Given the description of an element on the screen output the (x, y) to click on. 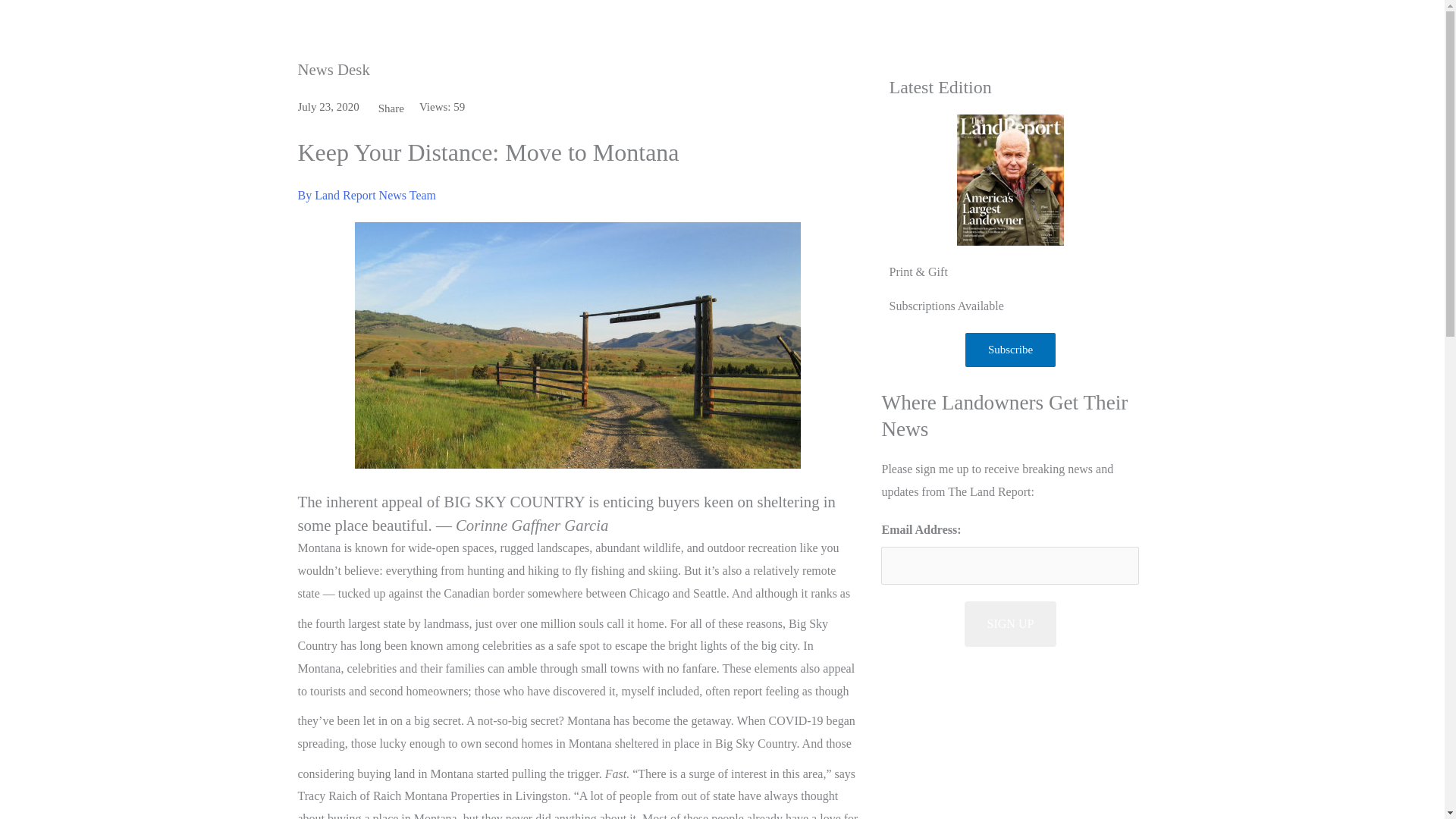
SIGN UP (1010, 624)
By Land Report News Team (578, 195)
Latest Edition (939, 86)
Subscribe (1010, 349)
SIGN UP (1010, 624)
SUBSCRIBE (1371, 26)
Where Landowners Get Their News (1003, 415)
Share (391, 108)
